Given the description of an element on the screen output the (x, y) to click on. 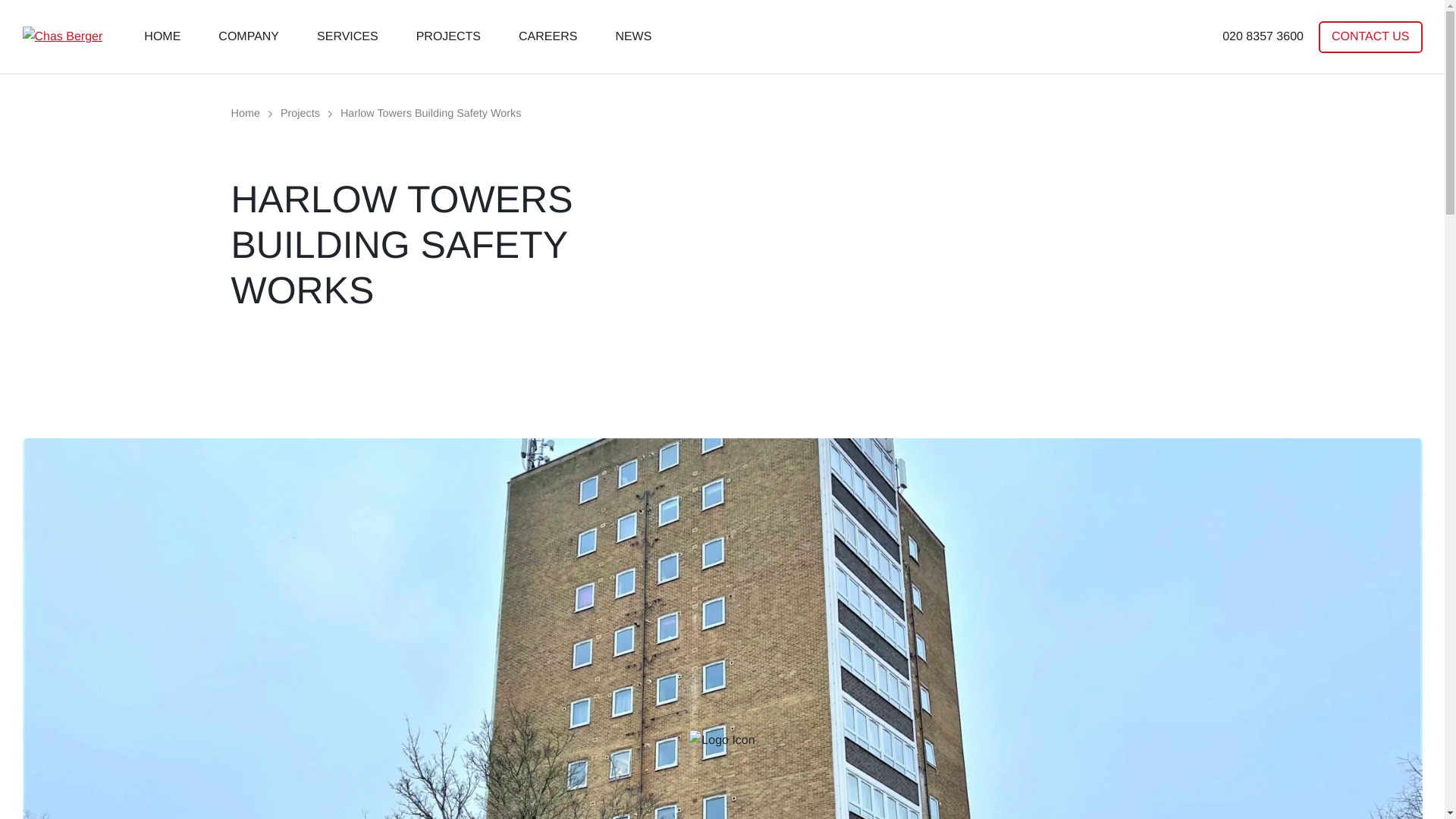
NEWS (633, 36)
SERVICES (347, 36)
HOME (161, 36)
020 8357 3600 (1263, 36)
Go to Chas Berger. (244, 113)
Go to Projects. (300, 113)
Home (244, 113)
CAREERS (547, 36)
CONTACT US (1370, 37)
Projects (300, 113)
COMPANY (248, 36)
PROJECTS (448, 36)
